Given the description of an element on the screen output the (x, y) to click on. 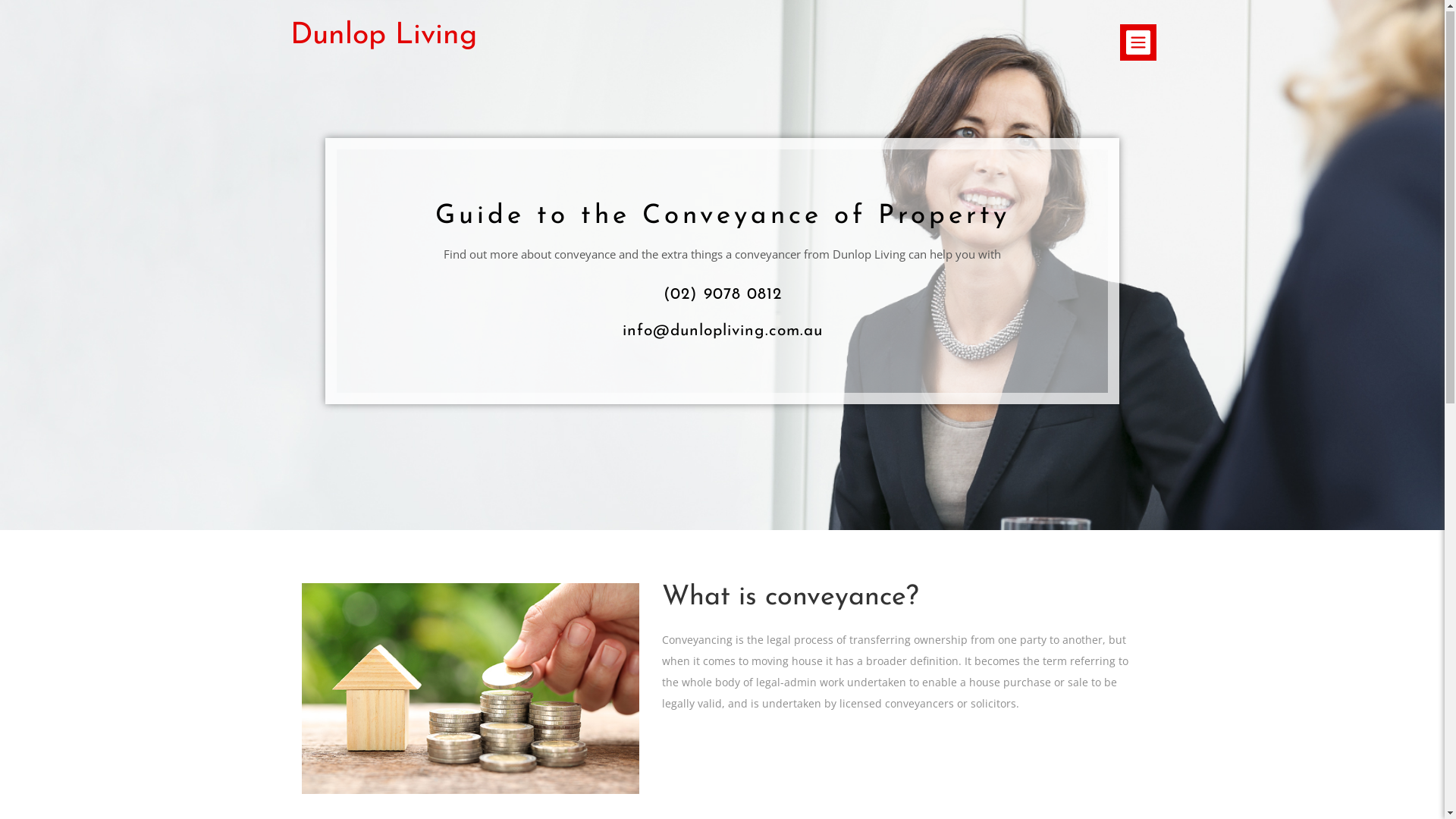
info@dunlopliving.com.au Element type: text (721, 331)
Dunlop Living Element type: text (382, 37)
